Given the description of an element on the screen output the (x, y) to click on. 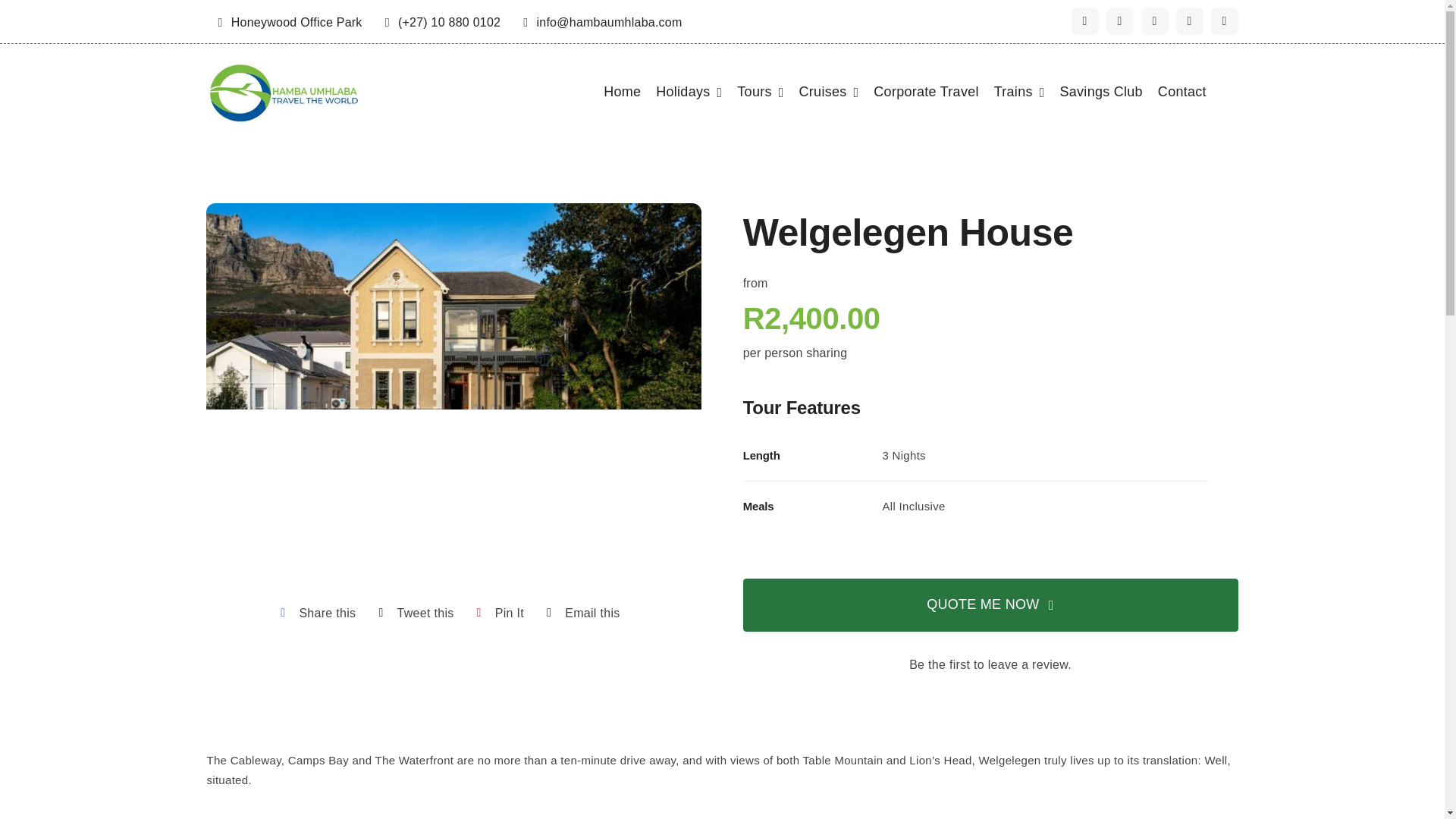
Facebook (1083, 21)
Holidays (689, 93)
Instagram (1153, 21)
Pinterest (496, 613)
Cruises (829, 93)
X (1118, 21)
Tiktok (1188, 21)
Honeywood Office Park (289, 20)
LinkedIn (1223, 21)
